Given the description of an element on the screen output the (x, y) to click on. 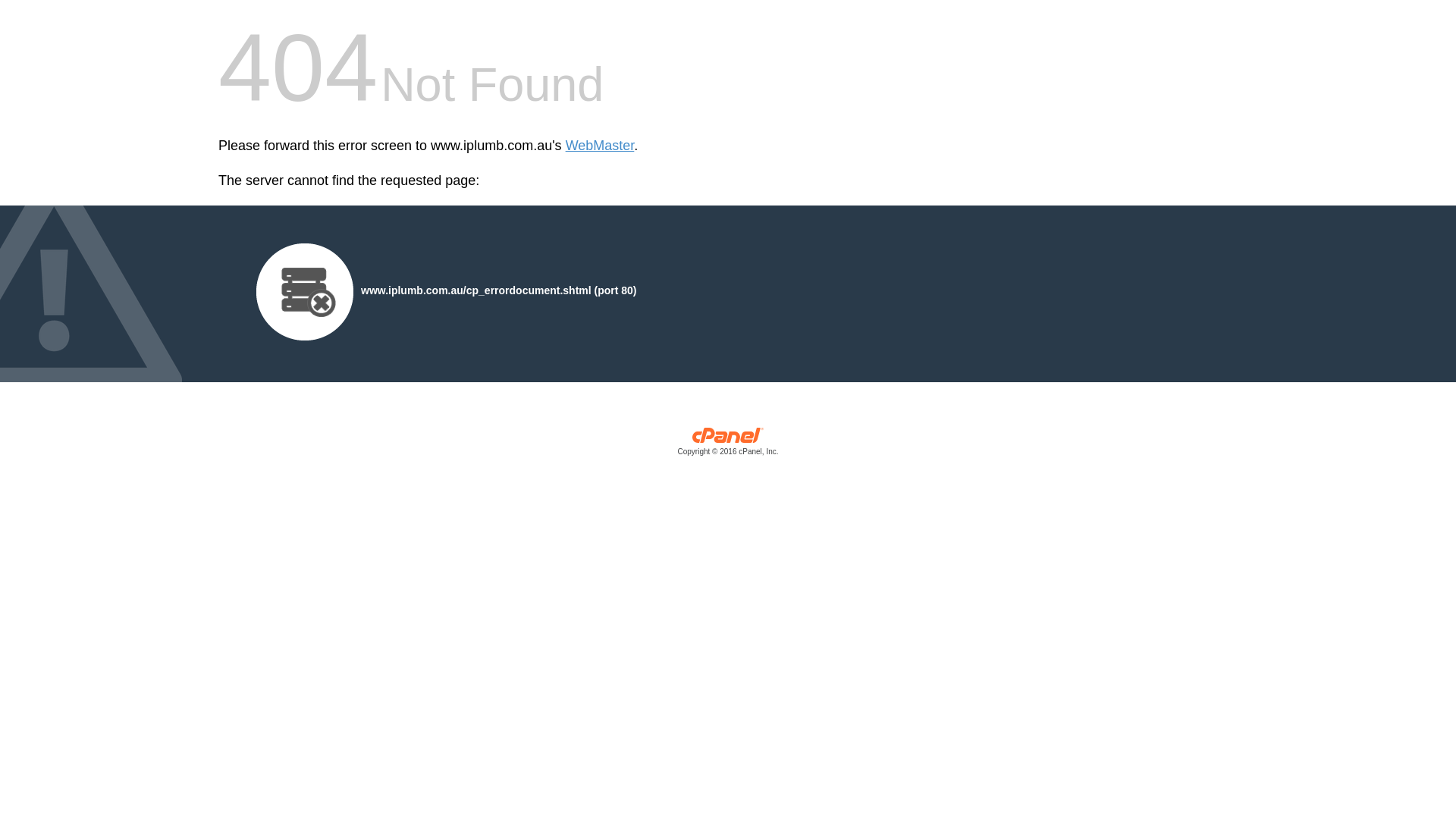
WebMaster Element type: text (599, 145)
